Given the description of an element on the screen output the (x, y) to click on. 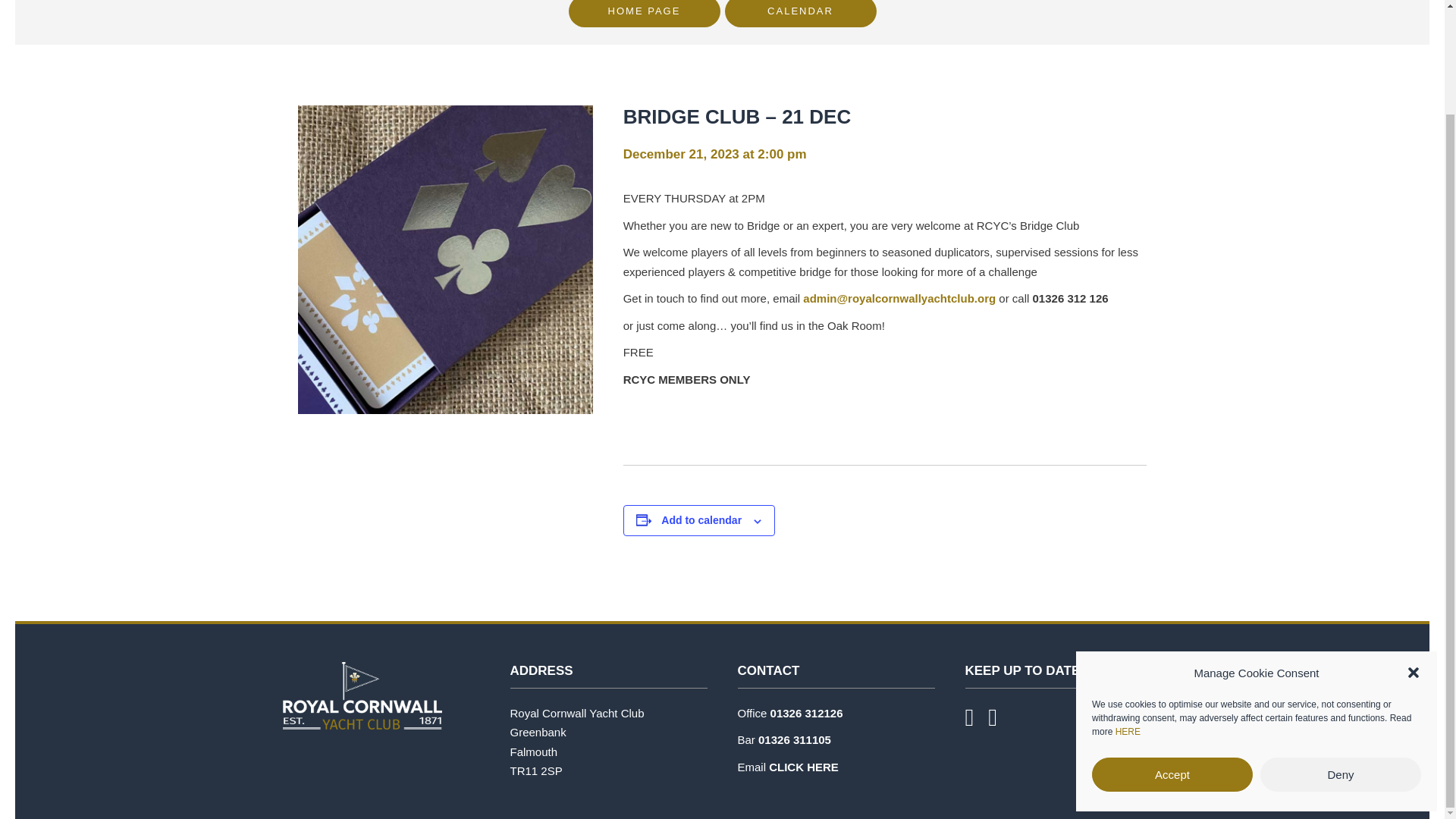
HERE (1127, 609)
CLICK HERE (803, 766)
Accept (1172, 652)
Add to calendar (701, 520)
bridge-club (444, 259)
01326 312126 (806, 712)
HOME PAGE (644, 13)
01326 311105 (794, 739)
CALENDAR (800, 13)
Deny (1340, 652)
full-logo-with-pole-on-dark-background-outlined (361, 695)
